Given the description of an element on the screen output the (x, y) to click on. 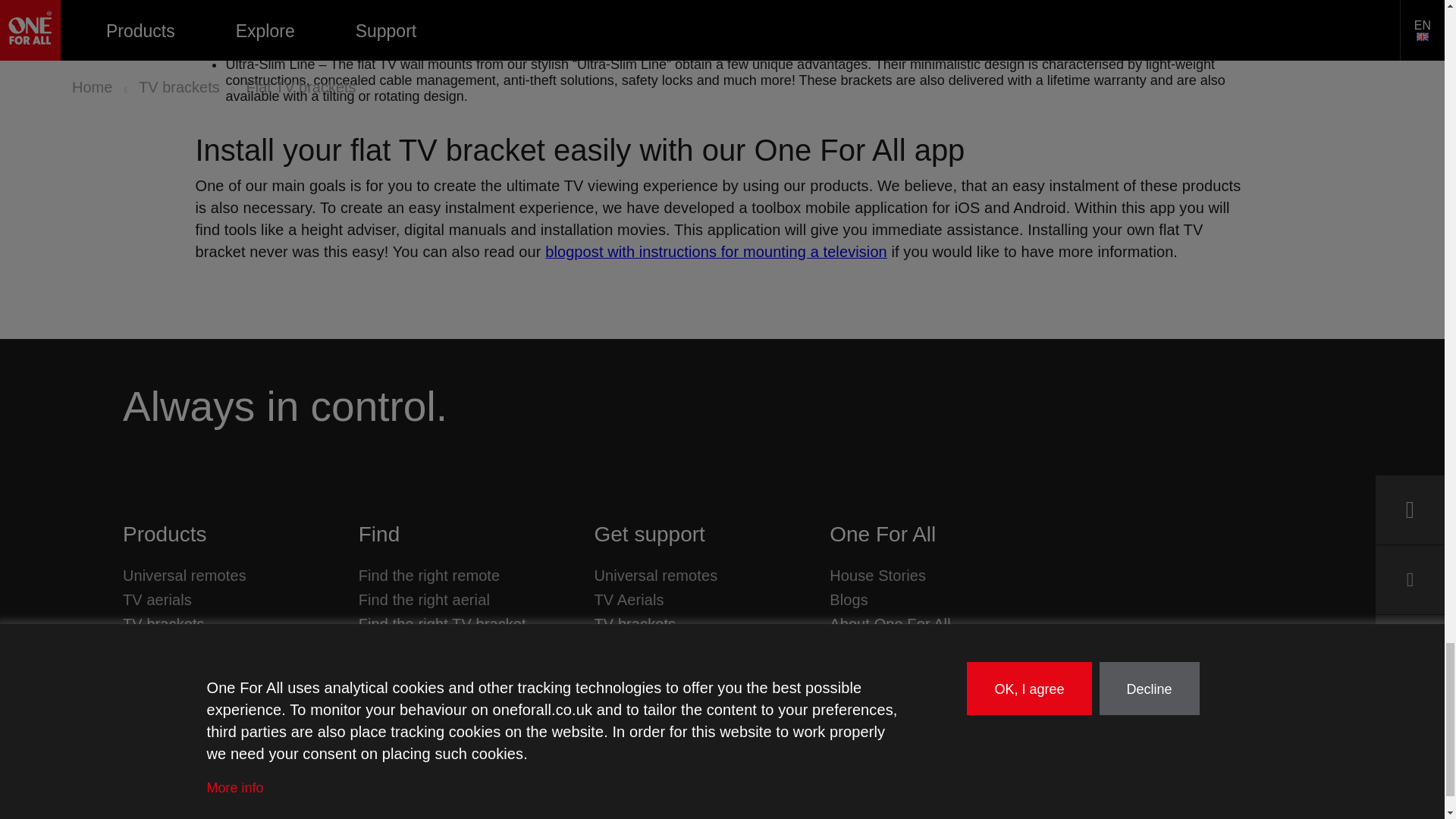
Find the right product (378, 534)
Find the right aerial (423, 599)
Find the right remote (429, 575)
Browse all One For All products. (164, 534)
Signal distribution (183, 671)
See our TV aerials (157, 599)
Wireless AV Senders (193, 695)
Find the right TV bracket (441, 623)
Tv brackets (163, 623)
Universal Remotes (184, 575)
